Given the description of an element on the screen output the (x, y) to click on. 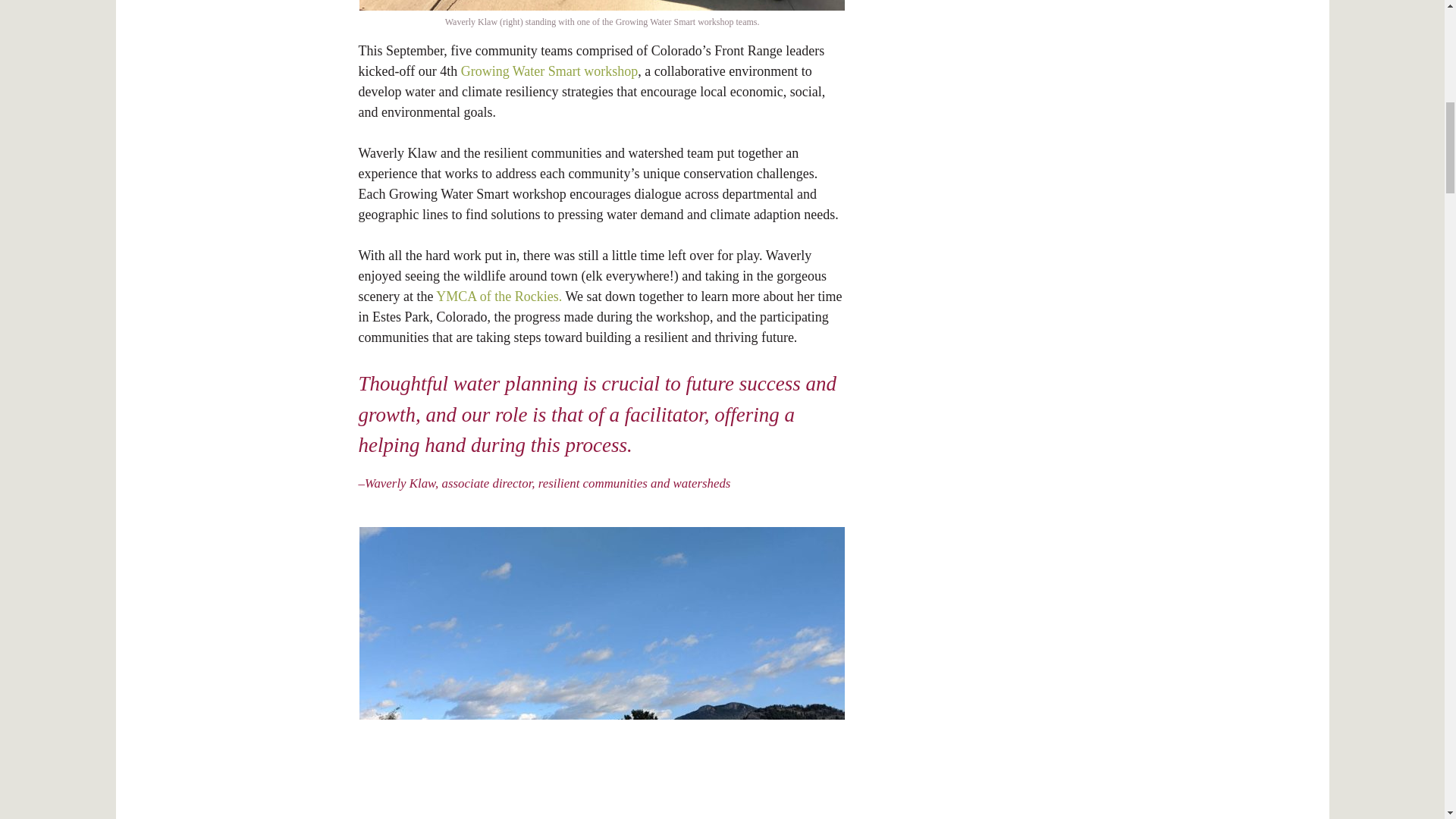
YMCA of the Rockies. (498, 296)
Growing Water Smart workshop (550, 70)
